Given the description of an element on the screen output the (x, y) to click on. 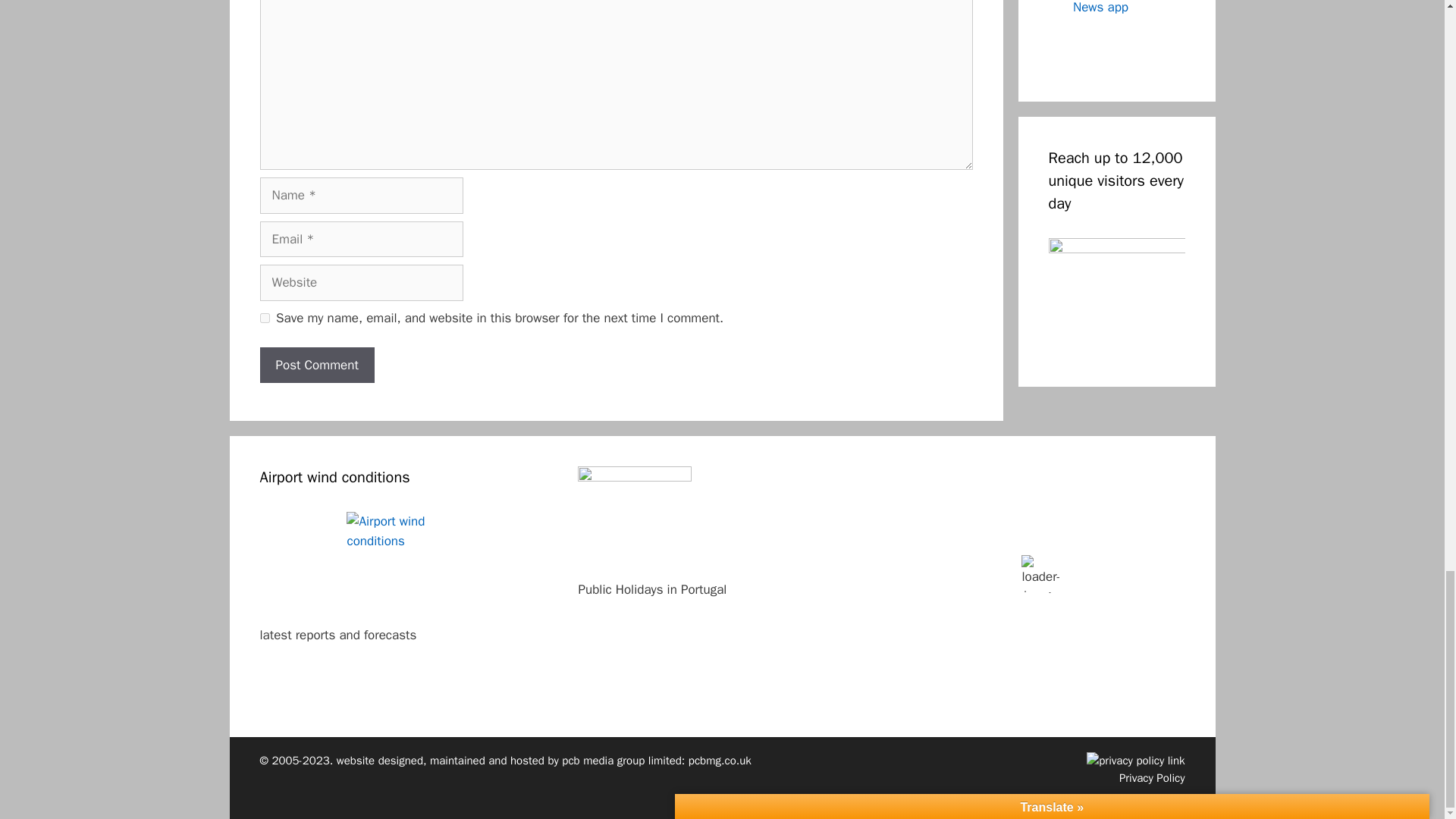
yes (264, 317)
Post Comment (316, 365)
Post Comment (316, 365)
